Given the description of an element on the screen output the (x, y) to click on. 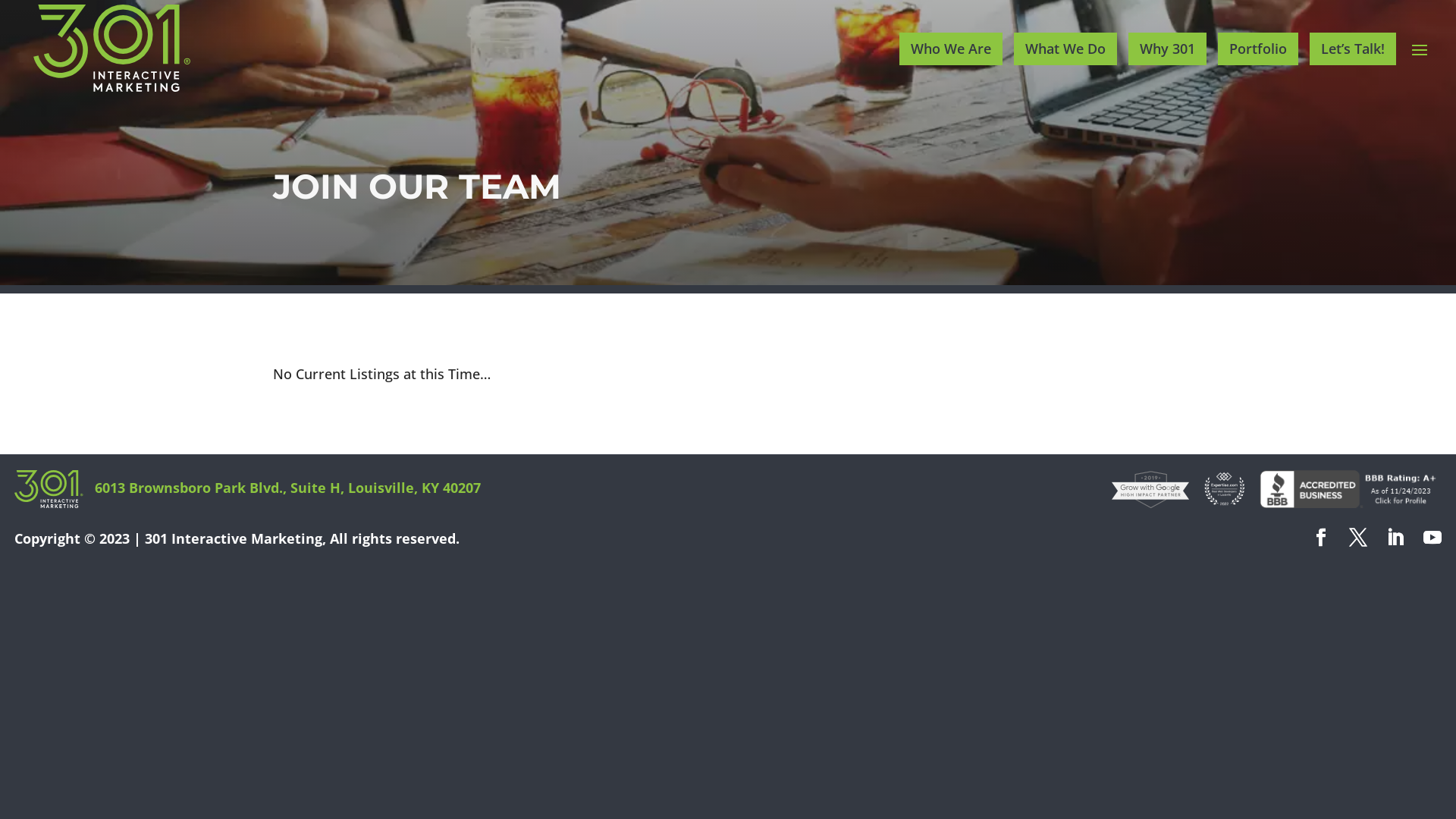
Who We Are Element type: text (950, 48)
What We Do Element type: text (1065, 48)
Why 301 Element type: text (1167, 48)
301 Interactive Marketing BBB Business Review Element type: hover (1346, 502)
6013 Brownsboro Park Blvd., Suite H, Louisville, KY 40207 Element type: text (287, 487)
Portfolio Element type: text (1257, 48)
301 Interactive Marketing Element type: text (233, 538)
